Given the description of an element on the screen output the (x, y) to click on. 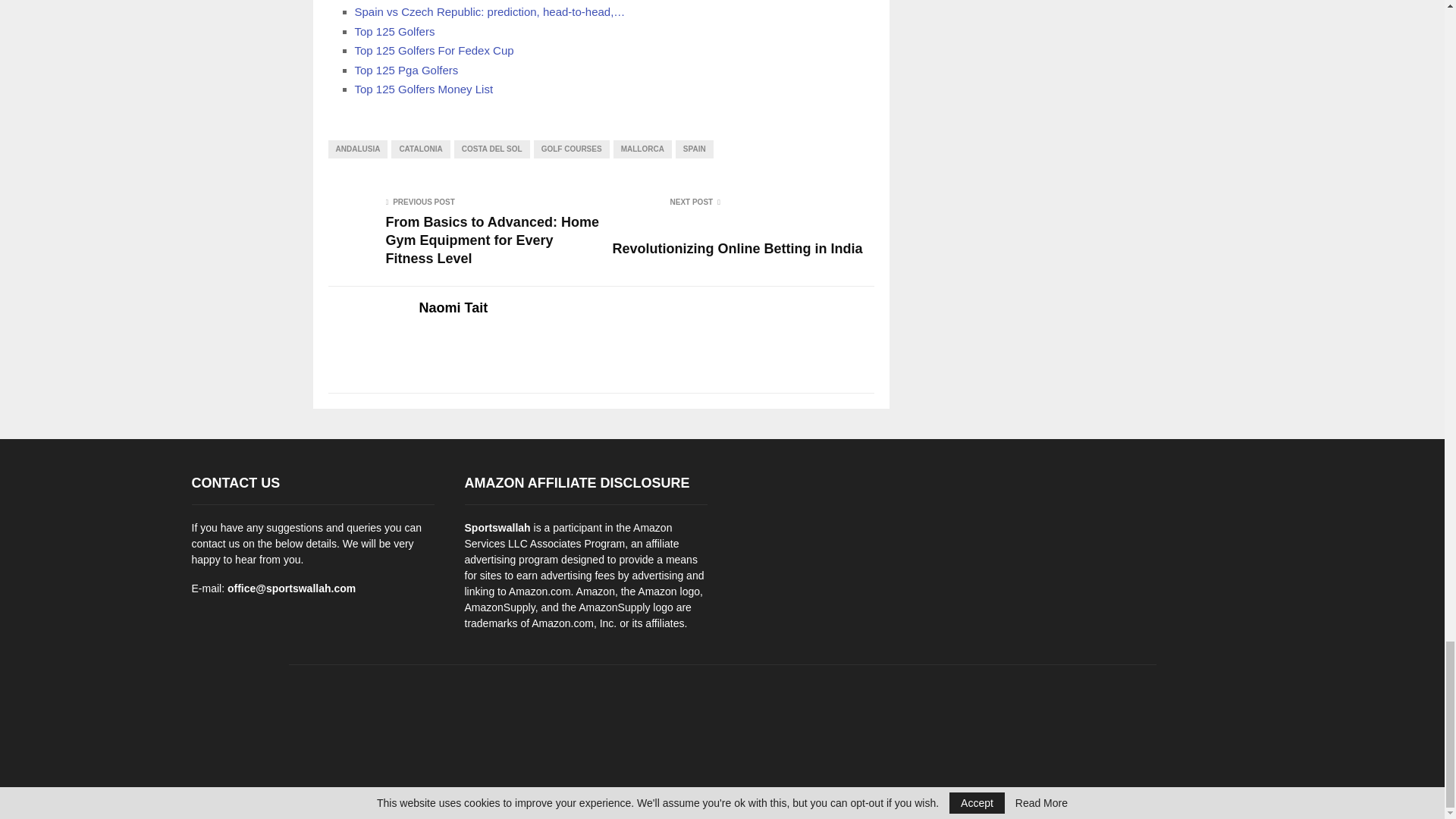
Top 125 Pga Golfers (406, 69)
Top 125 Golfers (395, 31)
GOLF COURSES (572, 149)
Naomi Tait (453, 307)
SPAIN (694, 149)
Posts by Naomi Tait (453, 307)
COSTA DEL SOL (491, 149)
Revolutionizing Online Betting in India (737, 248)
Top 125 Golfers Money List (424, 88)
CATALONIA (420, 149)
ANDALUSIA (357, 149)
MALLORCA (641, 149)
Top 125 Golfers For Fedex Cup (434, 50)
